Given the description of an element on the screen output the (x, y) to click on. 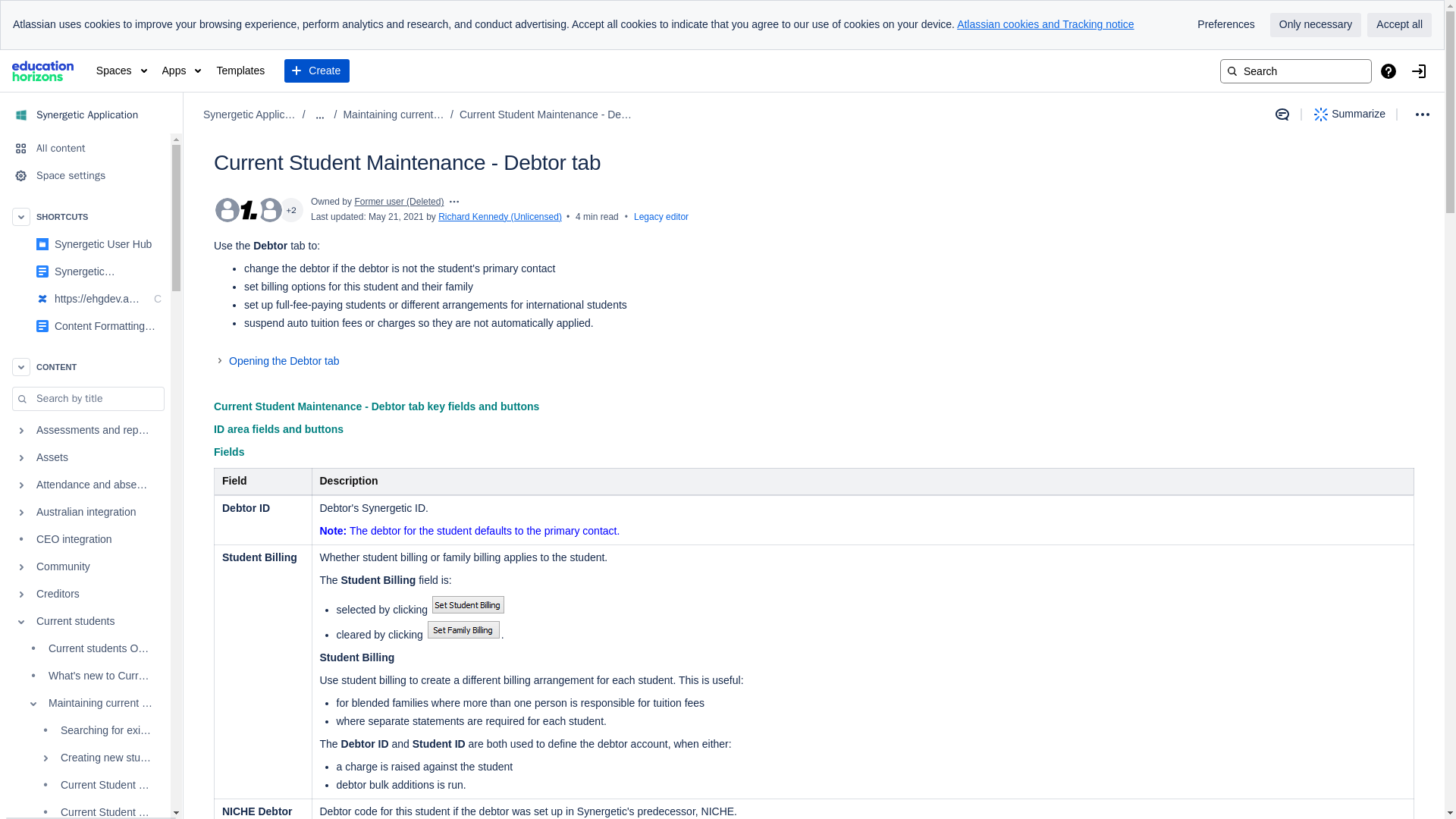
Creditors (84, 594)
Only necessary (1315, 24)
Attendance and absence events (84, 484)
CONTENT (84, 366)
Assessments and reports (84, 430)
Create (316, 70)
All content (84, 148)
Templates (240, 70)
Content Formatting Templates (84, 325)
Atlassian cookies and Tracking notice (1045, 24)
Apps (181, 70)
Space settings (84, 175)
Community (84, 566)
Synergetic User Hub (84, 243)
Synergetic Documentation (108, 271)
